Given the description of an element on the screen output the (x, y) to click on. 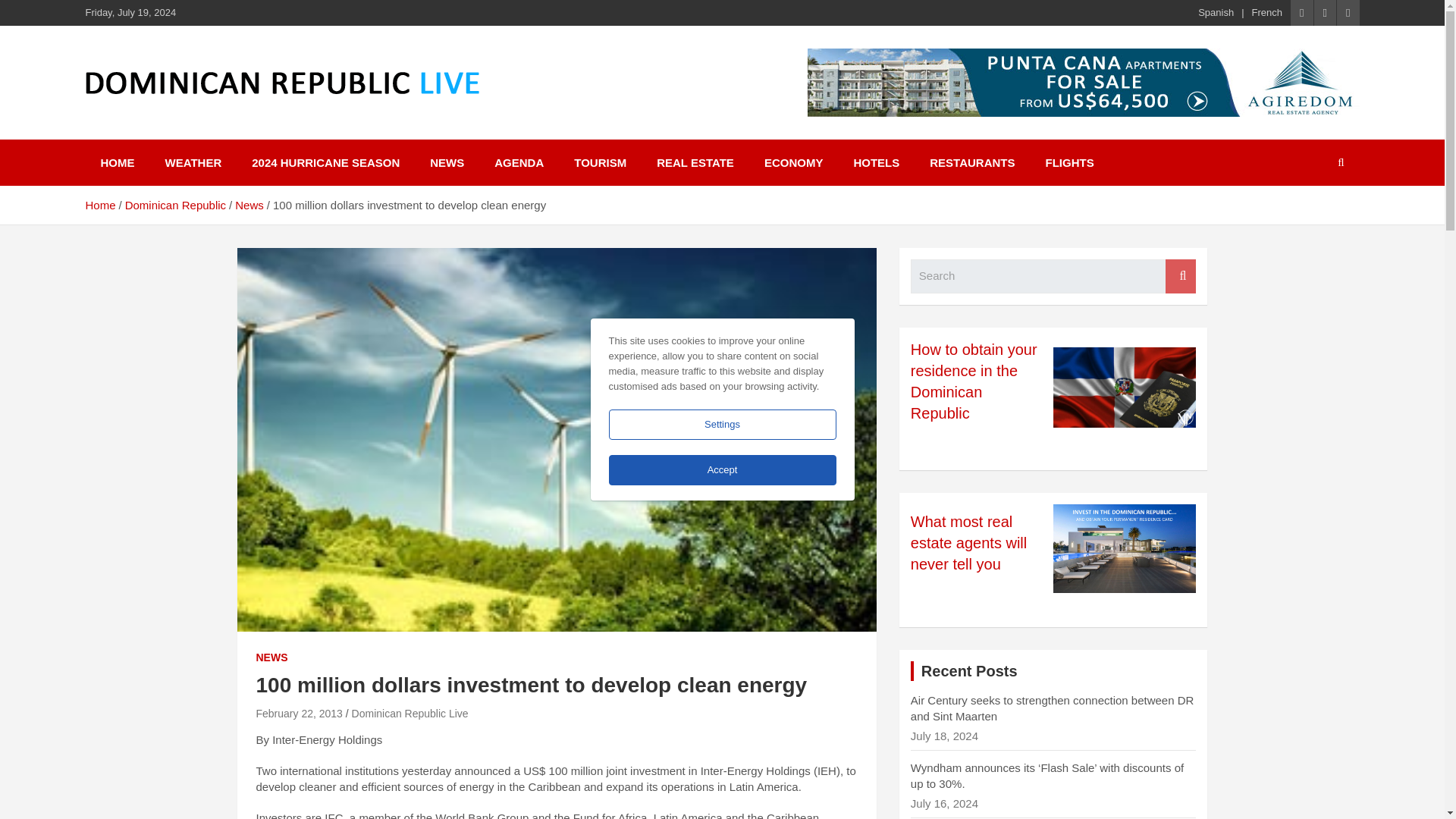
NEWS (446, 162)
Logo Dominican Republic Live 2024 - DOMINICAN REPUBLIC LIVE (281, 83)
Spanish (1215, 12)
AGENDA (519, 162)
Dominican Republic Live (410, 713)
FLIGHTS (1068, 162)
News (248, 205)
February 22, 2013 (299, 713)
TOURISM (600, 162)
REAL ESTATE (695, 162)
Home (99, 205)
Search (1180, 276)
NEWS (272, 657)
Dominican Republic (175, 205)
French (1267, 12)
